Given the description of an element on the screen output the (x, y) to click on. 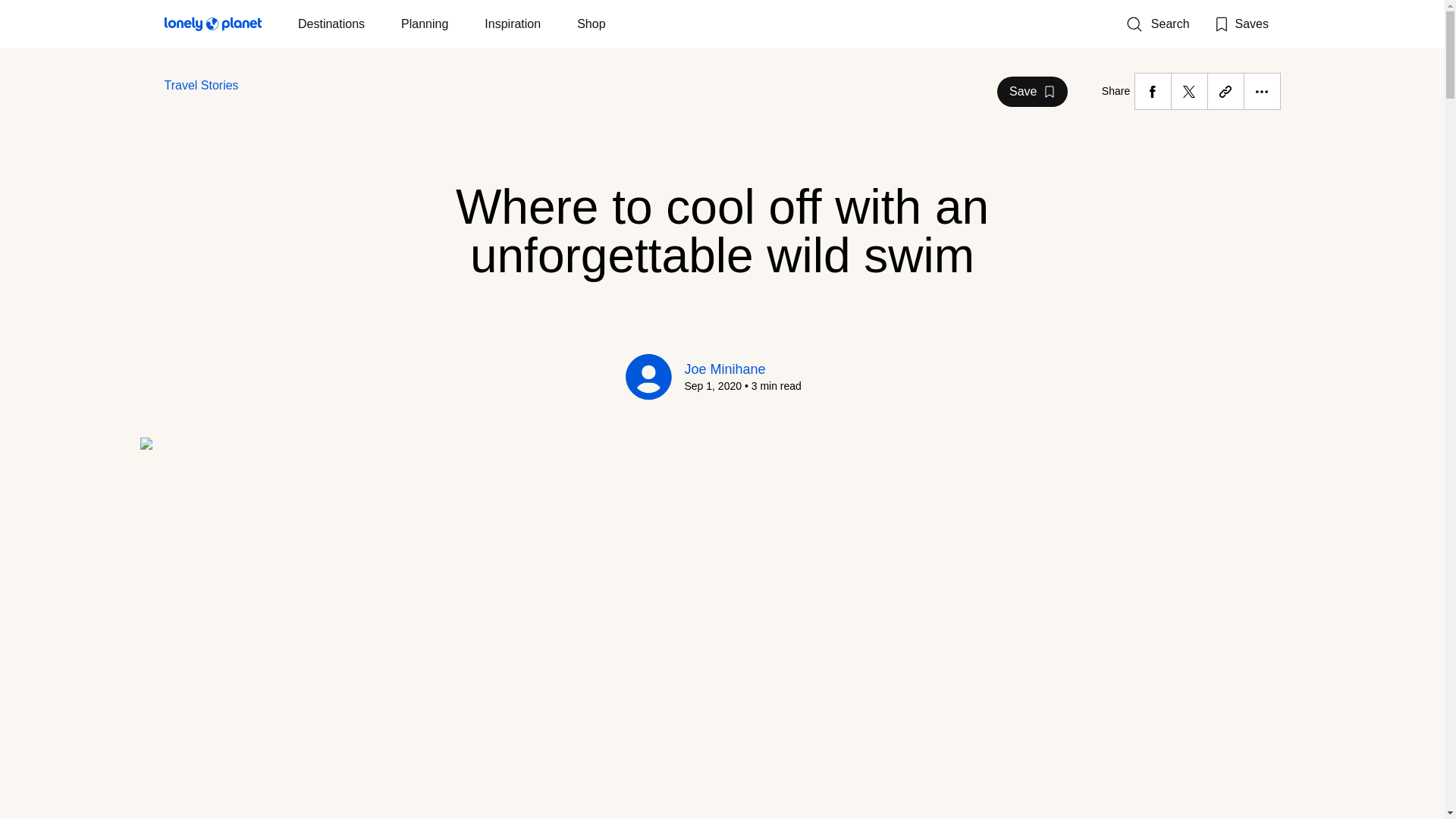
Planning (424, 24)
Saves (1240, 24)
Inspiration (512, 24)
Search (1157, 24)
Lonely Planet (1032, 91)
Travel Stories (211, 26)
Destinations (200, 85)
Joe Minihane (330, 24)
